Given the description of an element on the screen output the (x, y) to click on. 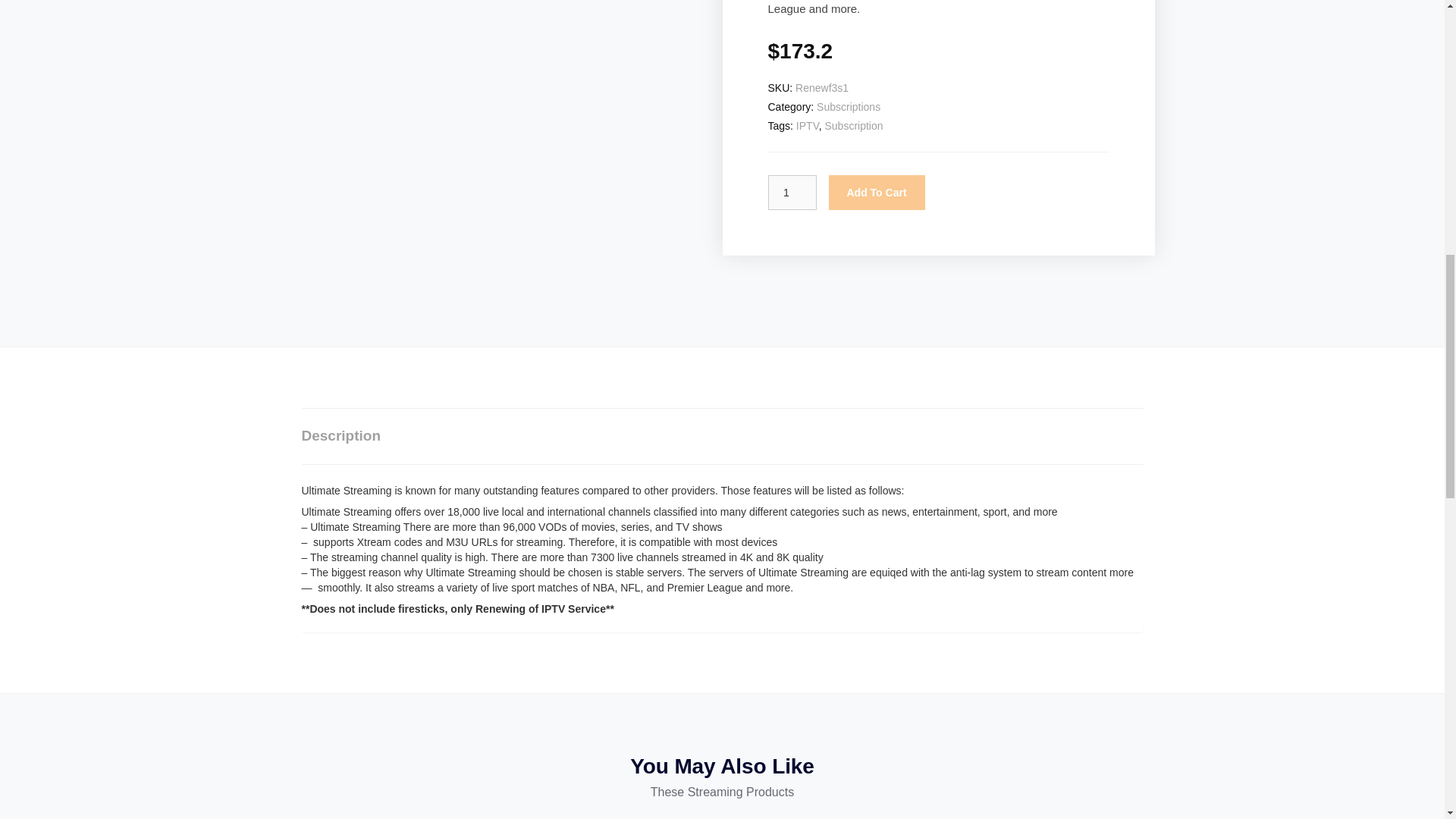
Description (341, 435)
Subscription (853, 125)
IPTV (807, 125)
Subscriptions (848, 106)
Add To Cart (876, 192)
1 (791, 192)
